Given the description of an element on the screen output the (x, y) to click on. 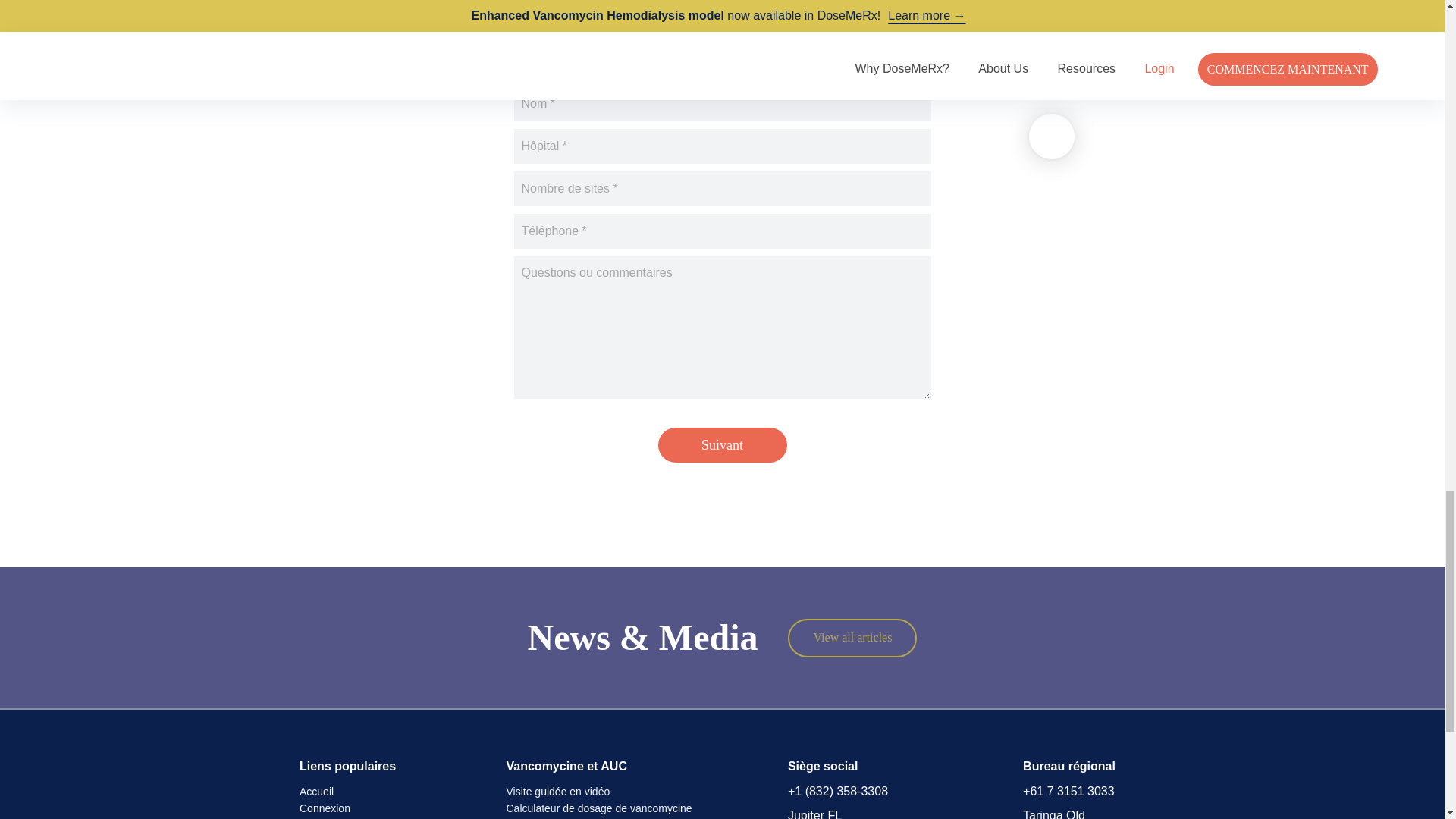
Suivant (722, 444)
